Given the description of an element on the screen output the (x, y) to click on. 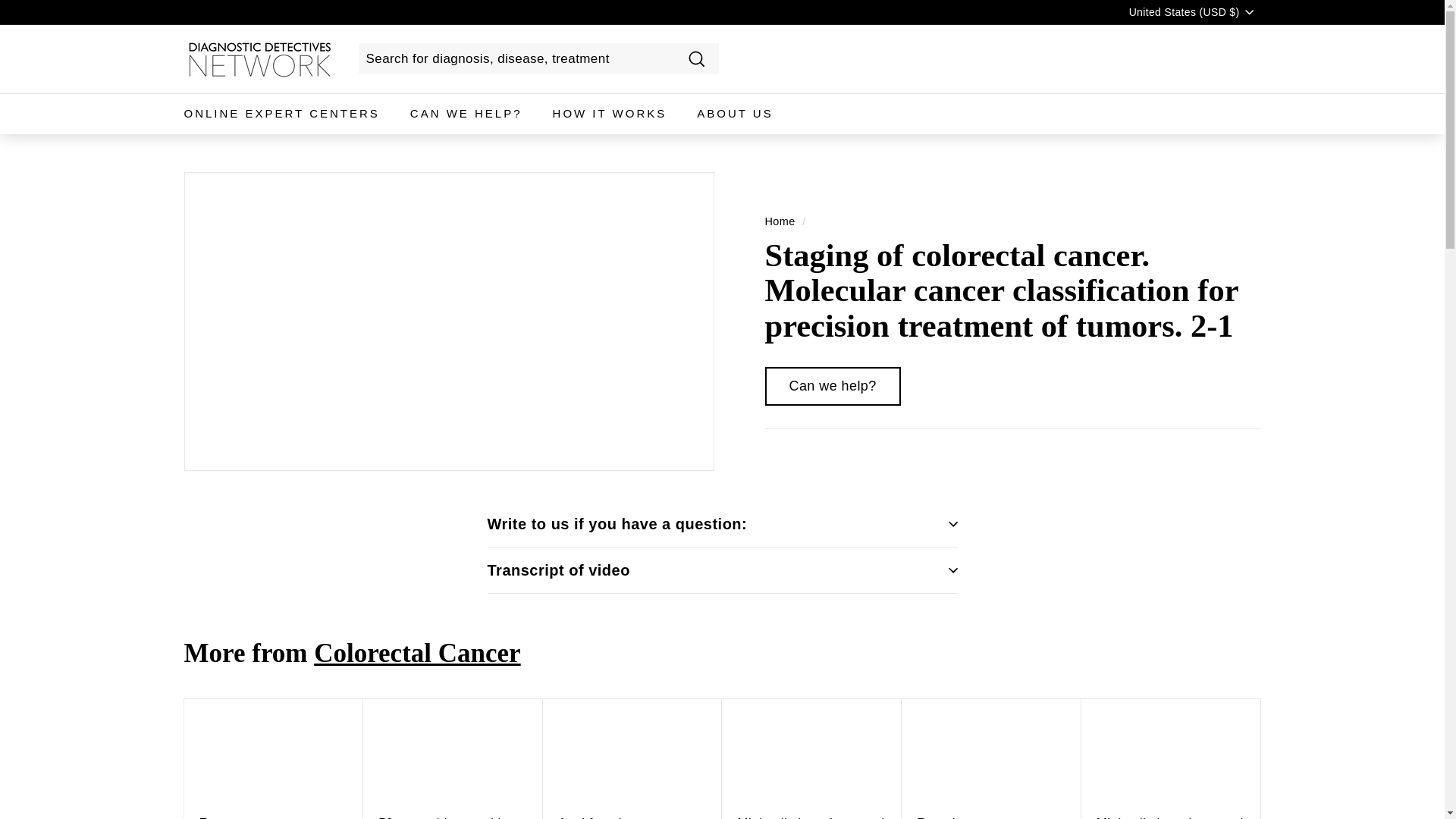
ONLINE EXPERT CENTERS (281, 113)
Back to the frontpage (779, 221)
